Given the description of an element on the screen output the (x, y) to click on. 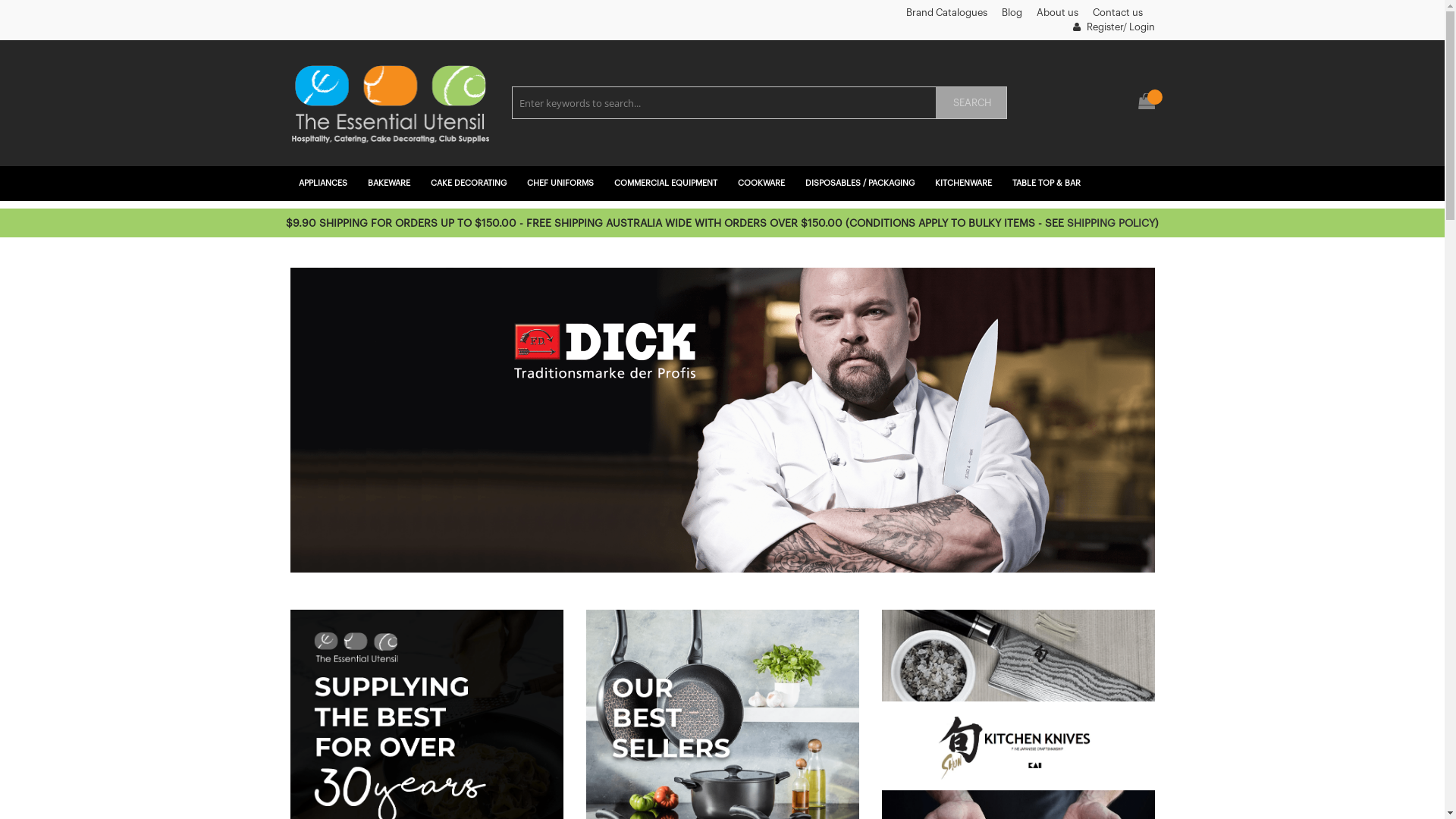
APPLIANCES Element type: text (323, 183)
KITCHENWARE Element type: text (965, 183)
DISPOSABLES / PACKAGING Element type: text (860, 183)
About us Element type: text (1056, 12)
COMMERCIAL EQUIPMENT Element type: text (666, 183)
BAKEWARE Element type: text (390, 183)
SEARCH Element type: text (970, 103)
Register Element type: text (1097, 26)
Login Element type: text (1141, 26)
Blog Element type: text (1011, 12)
TABLE TOP & BAR Element type: text (1048, 183)
Brand Catalogues Element type: text (945, 12)
COOKWARE Element type: text (763, 183)
Contact us Element type: text (1117, 12)
CHEF UNIFORMS Element type: text (561, 183)
CAKE DECORATING Element type: text (469, 183)
SHIPPING POLICY Element type: text (1110, 223)
